Given the description of an element on the screen output the (x, y) to click on. 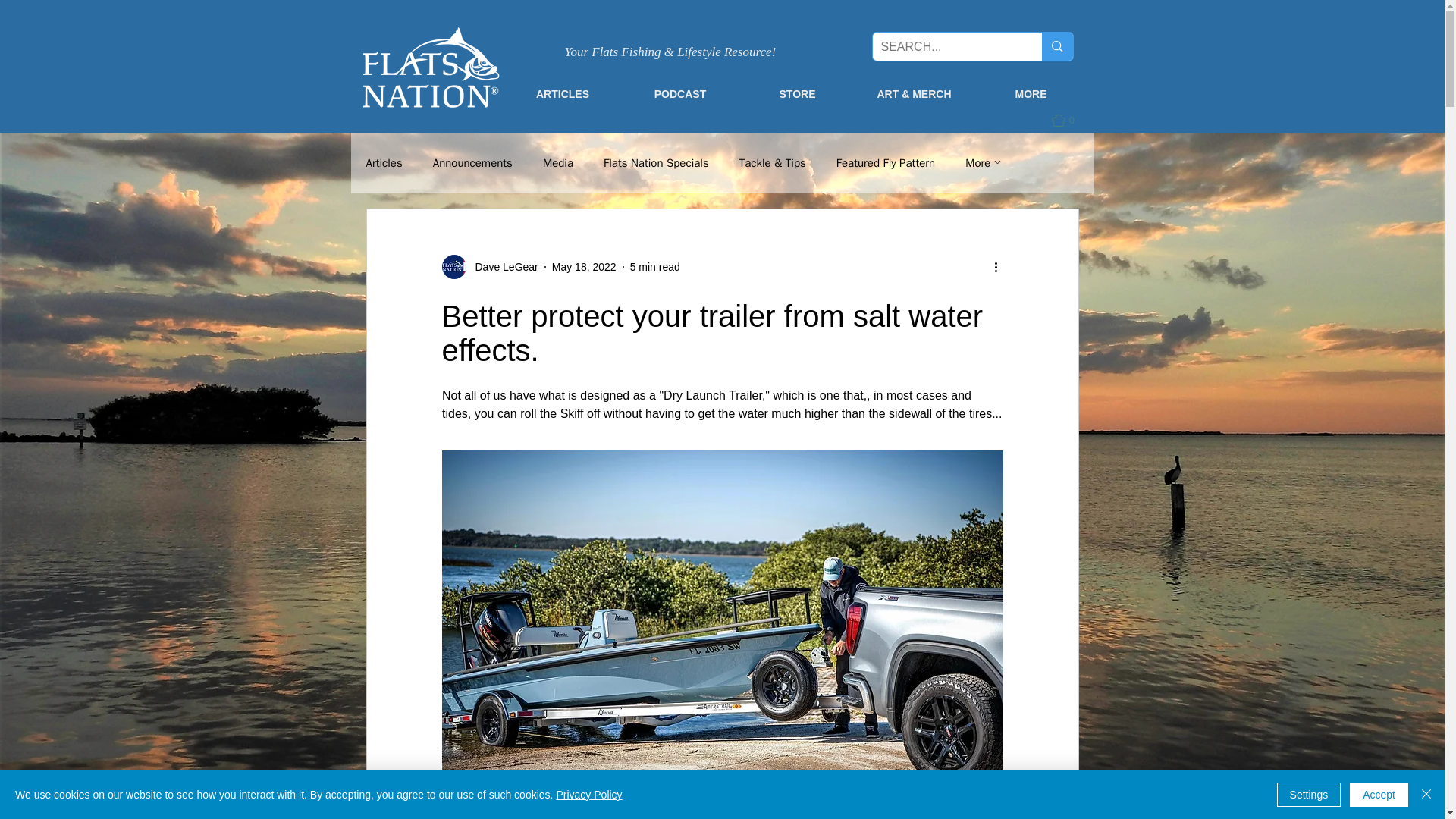
ARTICLES (562, 93)
Announcements (472, 163)
Flats Nation Specials (656, 163)
Click here to return Home (430, 67)
May 18, 2022 (583, 266)
5 min read (654, 266)
Media (558, 163)
Featured Fly Pattern (884, 163)
STORE (797, 93)
PODCAST (680, 93)
Dave LeGear (501, 267)
Articles (383, 163)
